Given the description of an element on the screen output the (x, y) to click on. 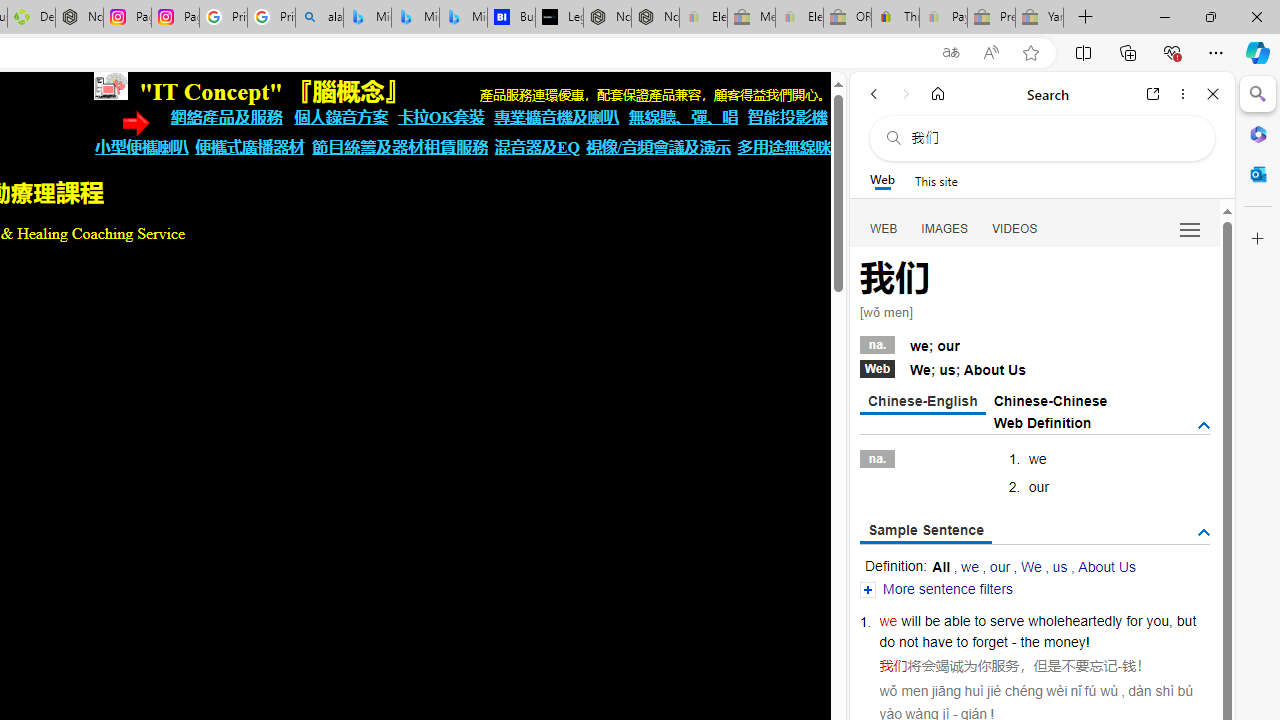
forget (989, 642)
Chinese-Chinese (1050, 400)
Web scope (882, 180)
money (1064, 642)
Microsoft Bing Travel - Shangri-La Hotel Bangkok (463, 17)
wholeheartedly (1074, 620)
us (1059, 566)
not (908, 642)
! (1087, 642)
WEB (884, 228)
